Given the description of an element on the screen output the (x, y) to click on. 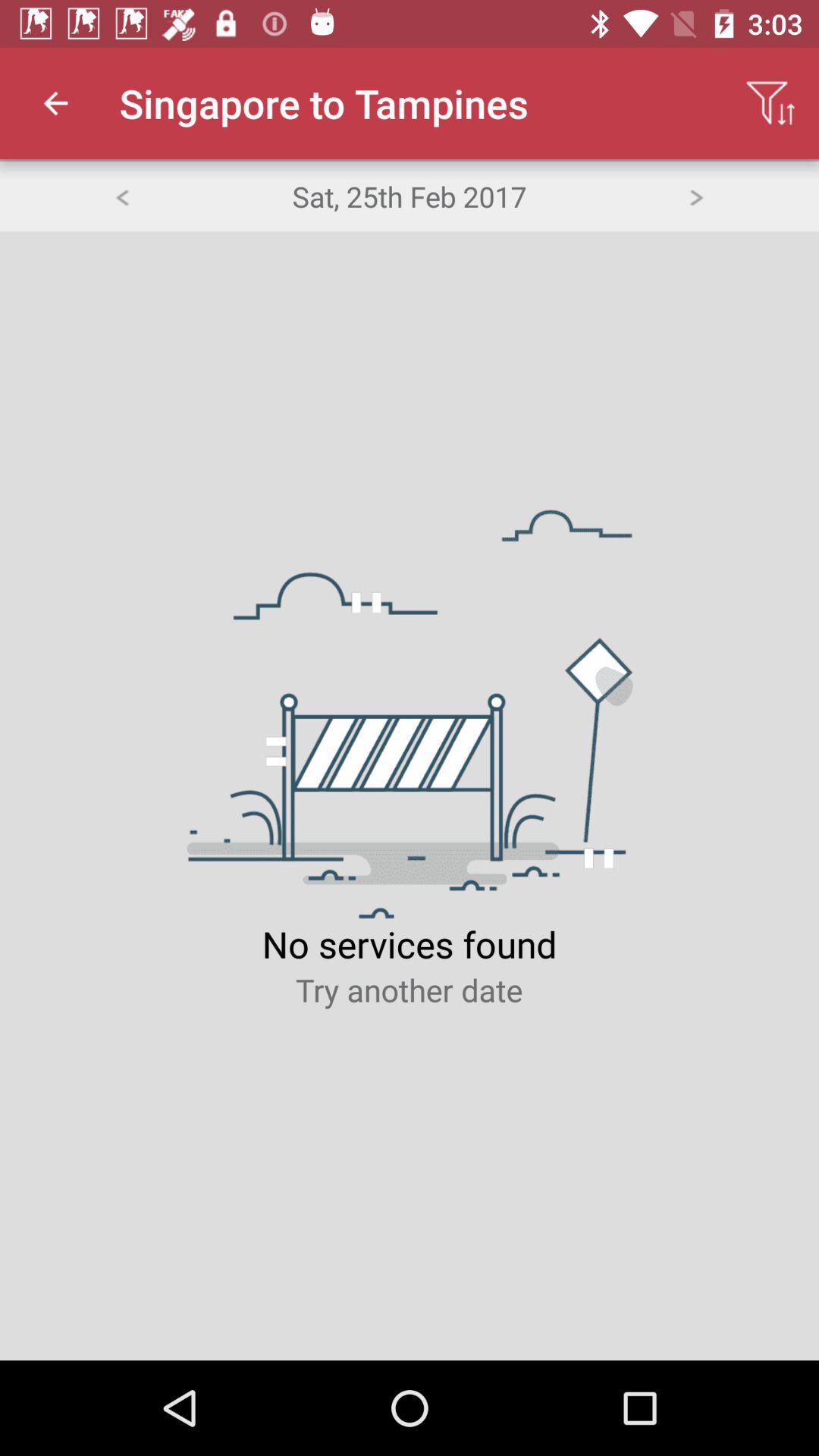
next page (696, 196)
